Given the description of an element on the screen output the (x, y) to click on. 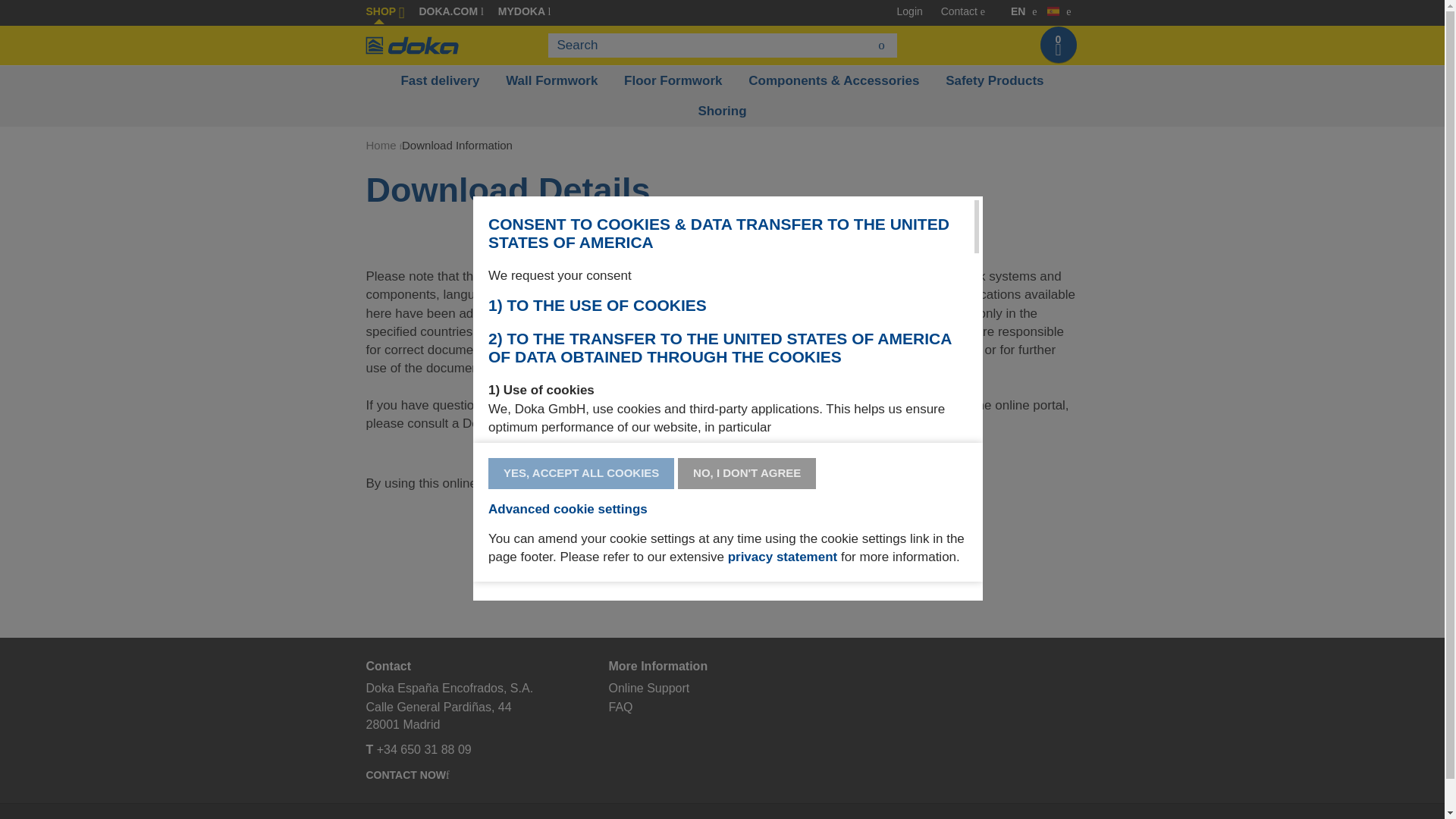
Login (909, 10)
Contact (958, 10)
SHOP (384, 10)
No, I don't agree (746, 472)
DOKA.COM (451, 10)
FAQ (619, 707)
Online Support (648, 687)
Yes, accept all cookies (580, 472)
MYDOKA  (523, 10)
